Given the description of an element on the screen output the (x, y) to click on. 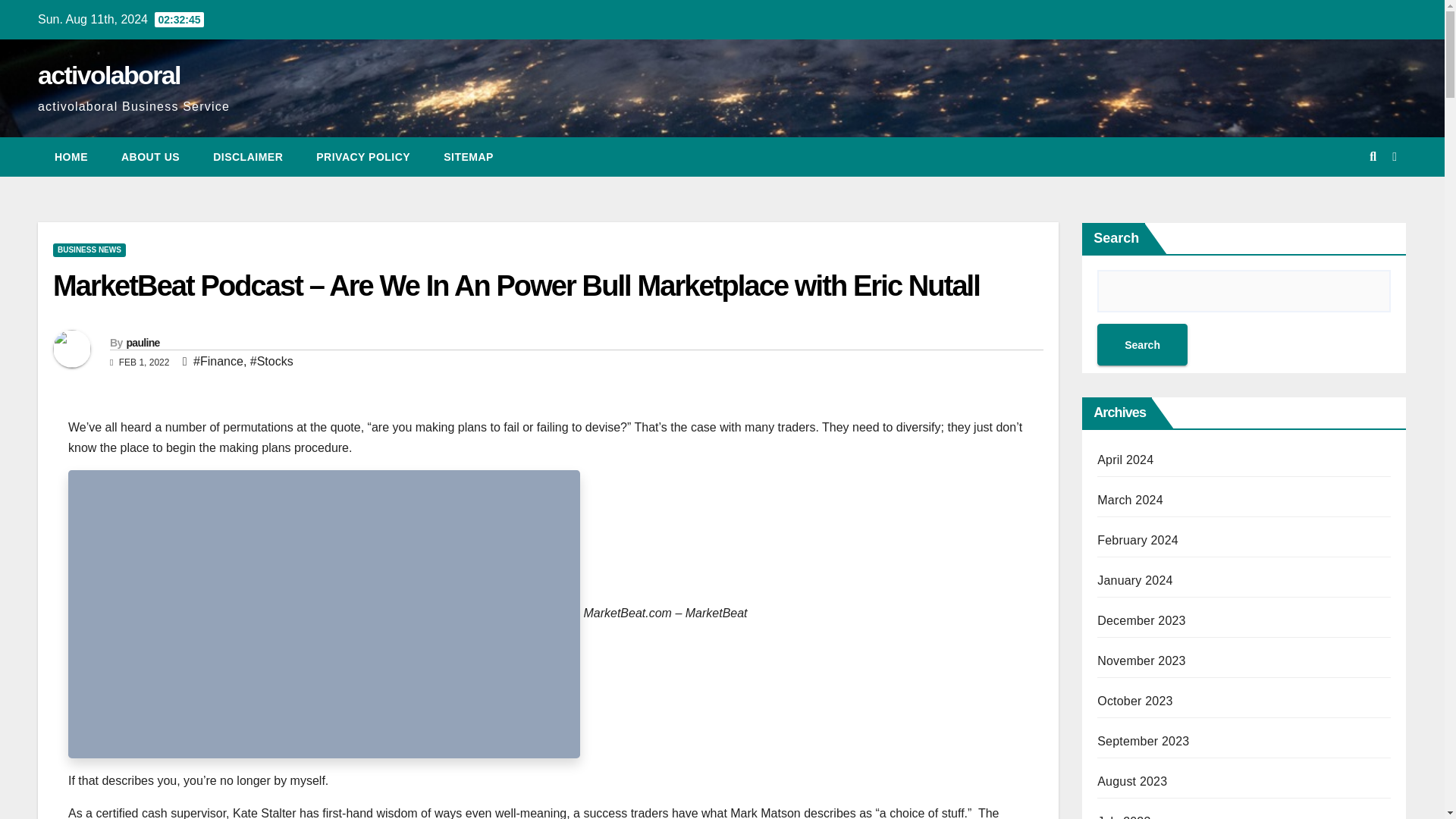
DISCLAIMER (247, 156)
HOME (70, 156)
BUSINESS NEWS (88, 250)
SITEMAP (468, 156)
ABOUT US (150, 156)
Home (70, 156)
activolaboral (108, 74)
pauline (141, 342)
PRIVACY POLICY (362, 156)
